Given the description of an element on the screen output the (x, y) to click on. 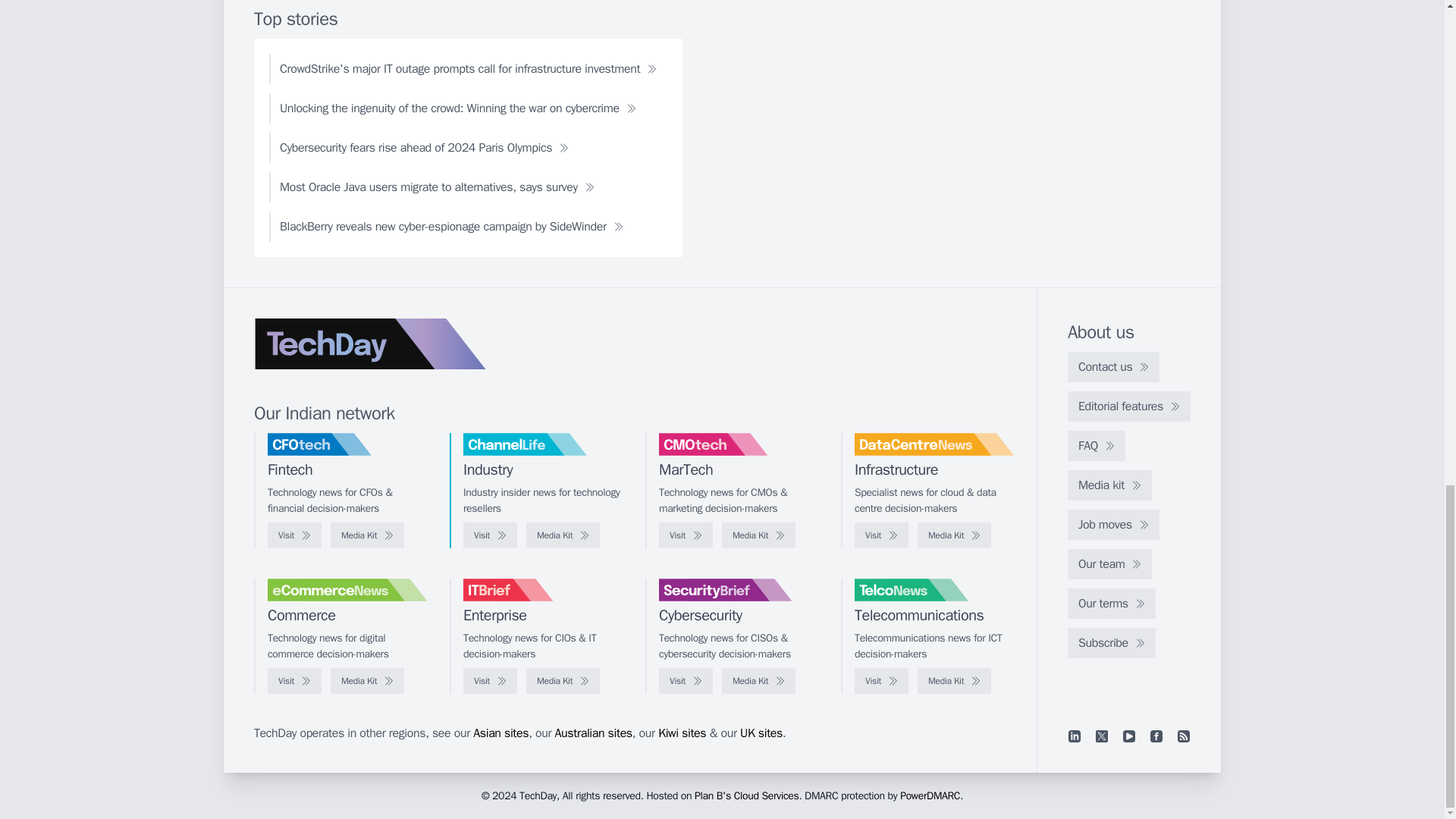
Media Kit (954, 534)
Most Oracle Java users migrate to alternatives, says survey (437, 186)
Visit (881, 534)
Visit (686, 534)
Visit (294, 534)
Visit (489, 534)
Media Kit (562, 534)
Cybersecurity fears rise ahead of 2024 Paris Olympics (424, 147)
Media Kit (367, 534)
Media Kit (758, 534)
